Given the description of an element on the screen output the (x, y) to click on. 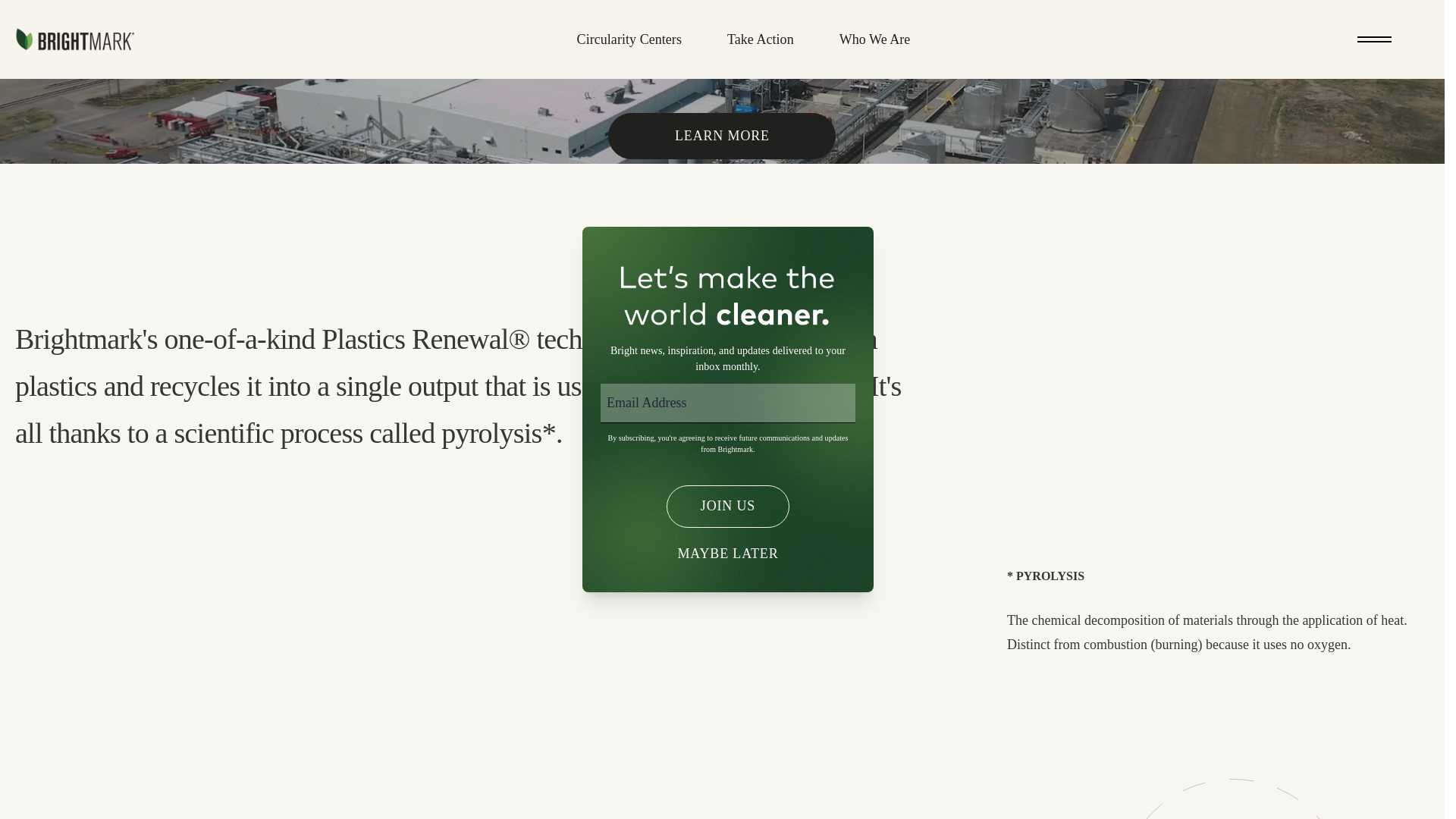
Who We Are (874, 39)
Take Action (760, 39)
Circularity Centers (629, 39)
LEARN MORE (721, 135)
